Given the description of an element on the screen output the (x, y) to click on. 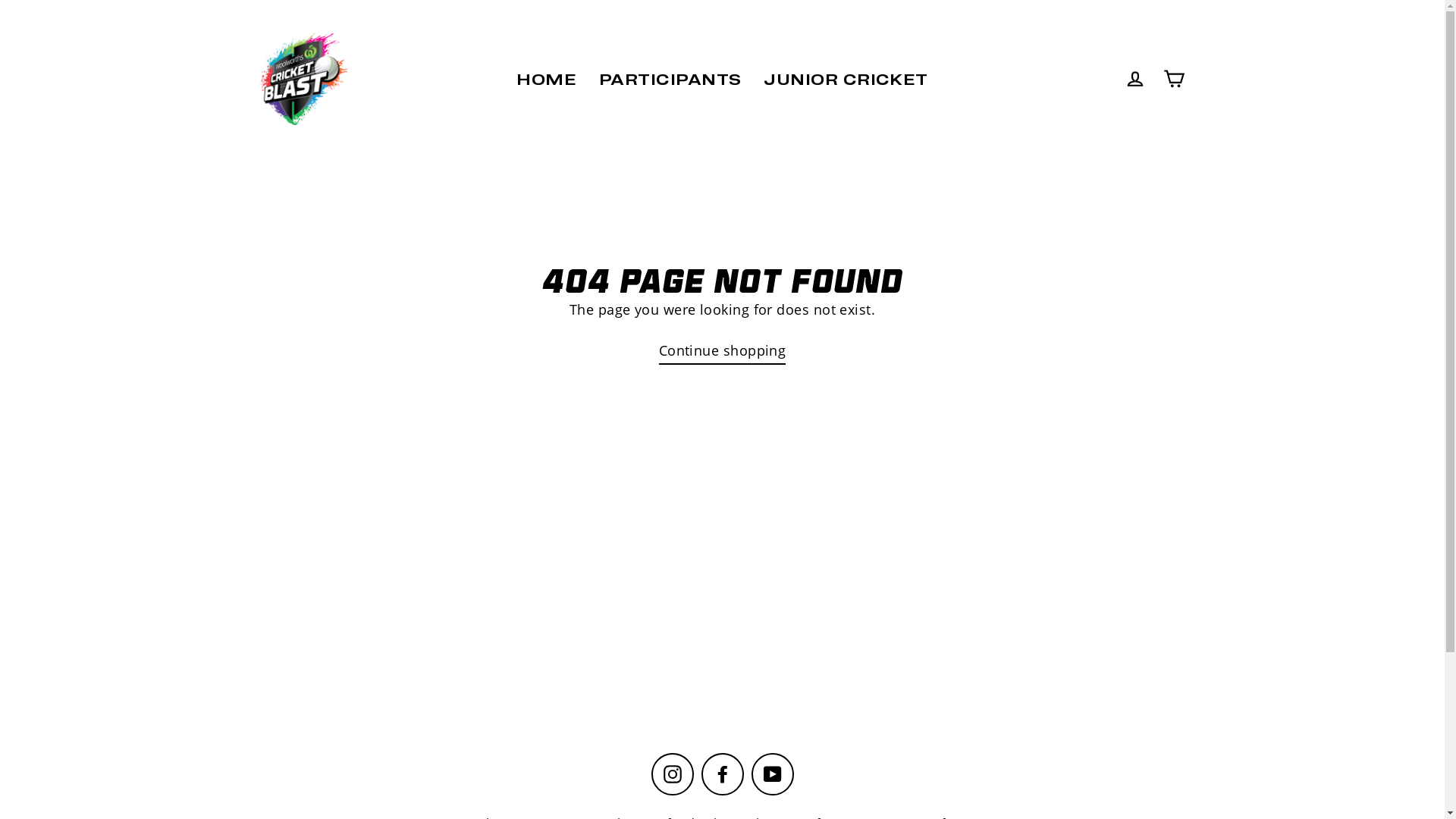
YouTube Element type: text (771, 774)
JUNIOR CRICKET Element type: text (845, 78)
Facebook Element type: text (721, 774)
Cart Element type: text (1173, 78)
Log in Element type: text (1134, 78)
PARTICIPANTS Element type: text (669, 78)
Instagram Element type: text (671, 774)
Continue shopping Element type: text (722, 351)
HOME Element type: text (546, 78)
Skip to content Element type: text (0, 0)
